Given the description of an element on the screen output the (x, y) to click on. 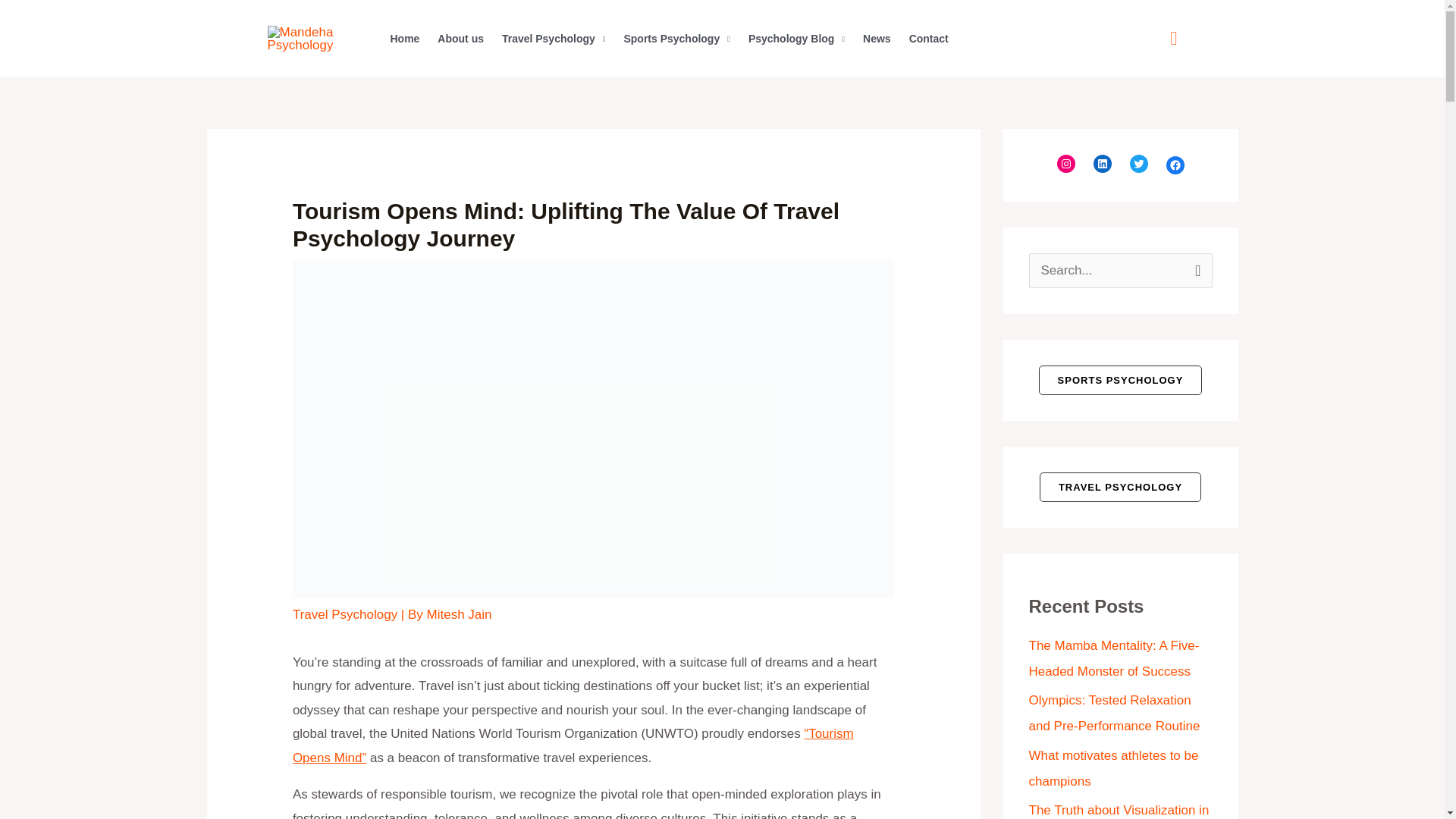
Home (404, 38)
Travel Psychology (553, 38)
Contact (928, 38)
About us (460, 38)
Search (1194, 269)
Sports Psychology (676, 38)
Search (1194, 269)
View all posts by Mitesh Jain (459, 614)
Psychology Blog (796, 38)
